Given the description of an element on the screen output the (x, y) to click on. 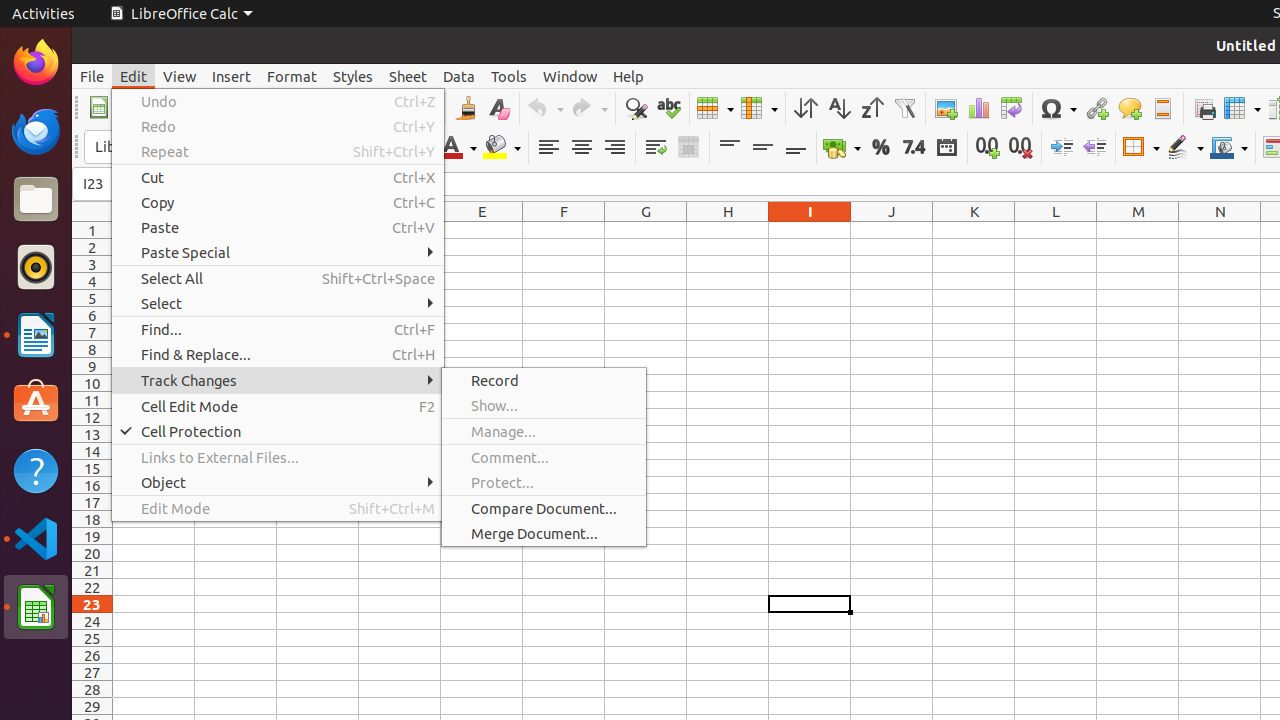
Paste Special Element type: menu (278, 252)
LibreOffice Calc Element type: push-button (36, 607)
N1 Element type: table-cell (1220, 230)
Track Changes Element type: menu (278, 380)
Insert Element type: menu (231, 76)
